Given the description of an element on the screen output the (x, y) to click on. 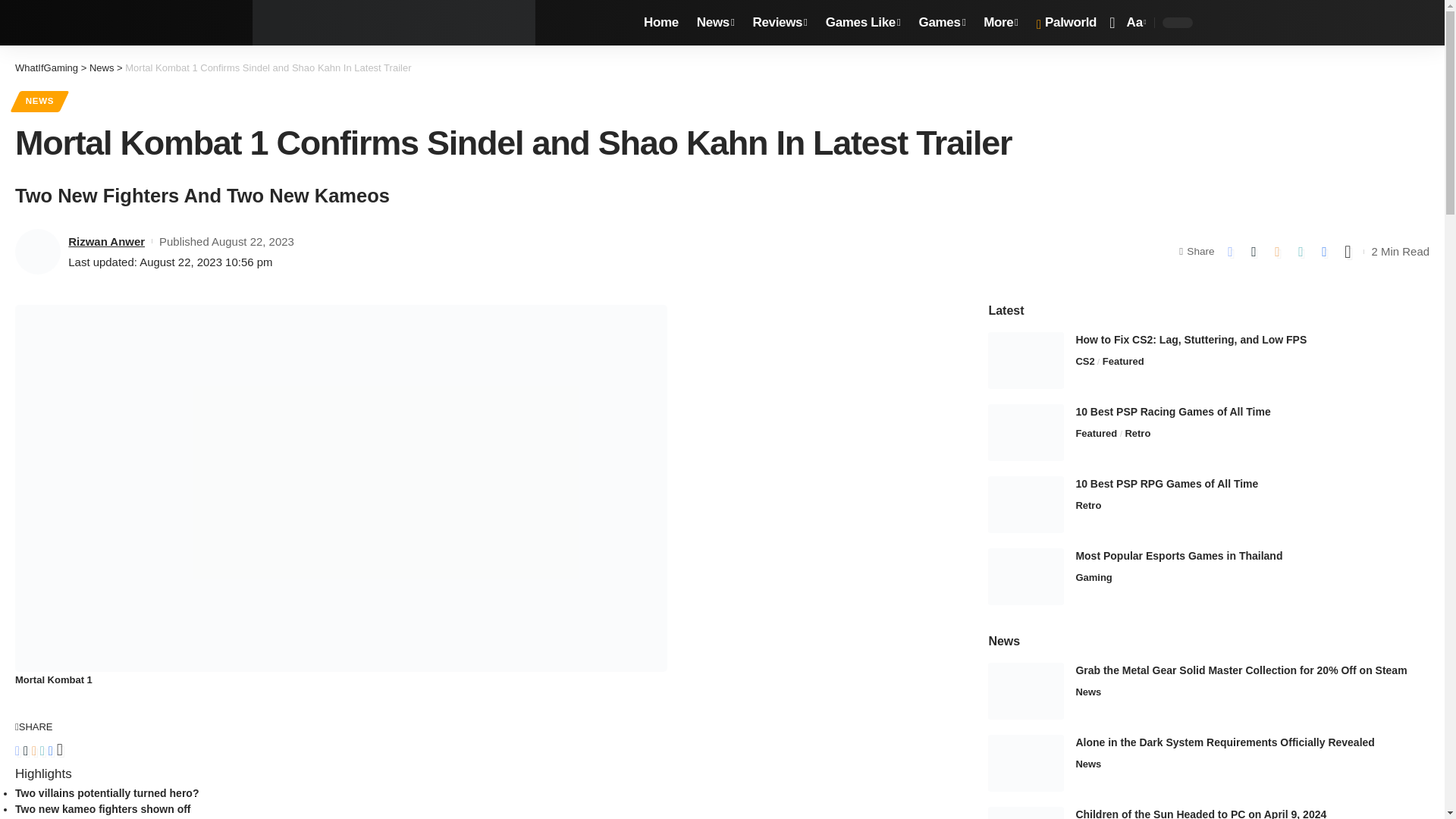
WhatIfGaming (393, 22)
Go to the News Category archives. (101, 67)
Reviews (780, 22)
Go to WhatIfGaming. (46, 67)
Games (942, 22)
How to Fix CS2: Lag, Stuttering, and Low FPS (1026, 360)
Home (660, 22)
Games Like (863, 22)
News (715, 22)
